Given the description of an element on the screen output the (x, y) to click on. 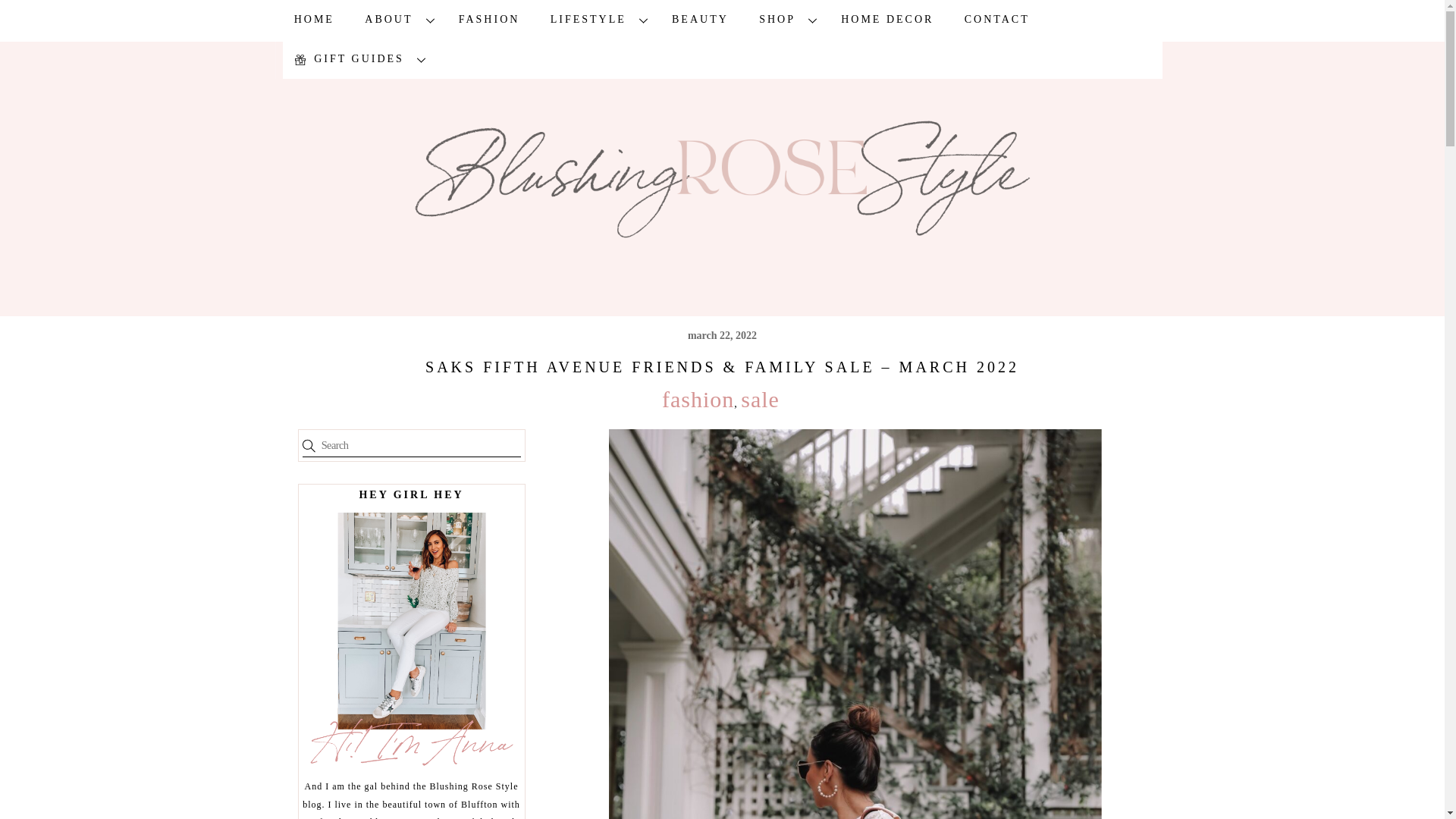
BEAUTY (700, 19)
fashion (697, 398)
GIFT GUIDES (356, 58)
FASHION (488, 19)
Search (410, 445)
HOME DECOR (887, 19)
CONTACT (996, 19)
HOME (314, 19)
LIFESTYLE (596, 19)
sale (759, 398)
